Given the description of an element on the screen output the (x, y) to click on. 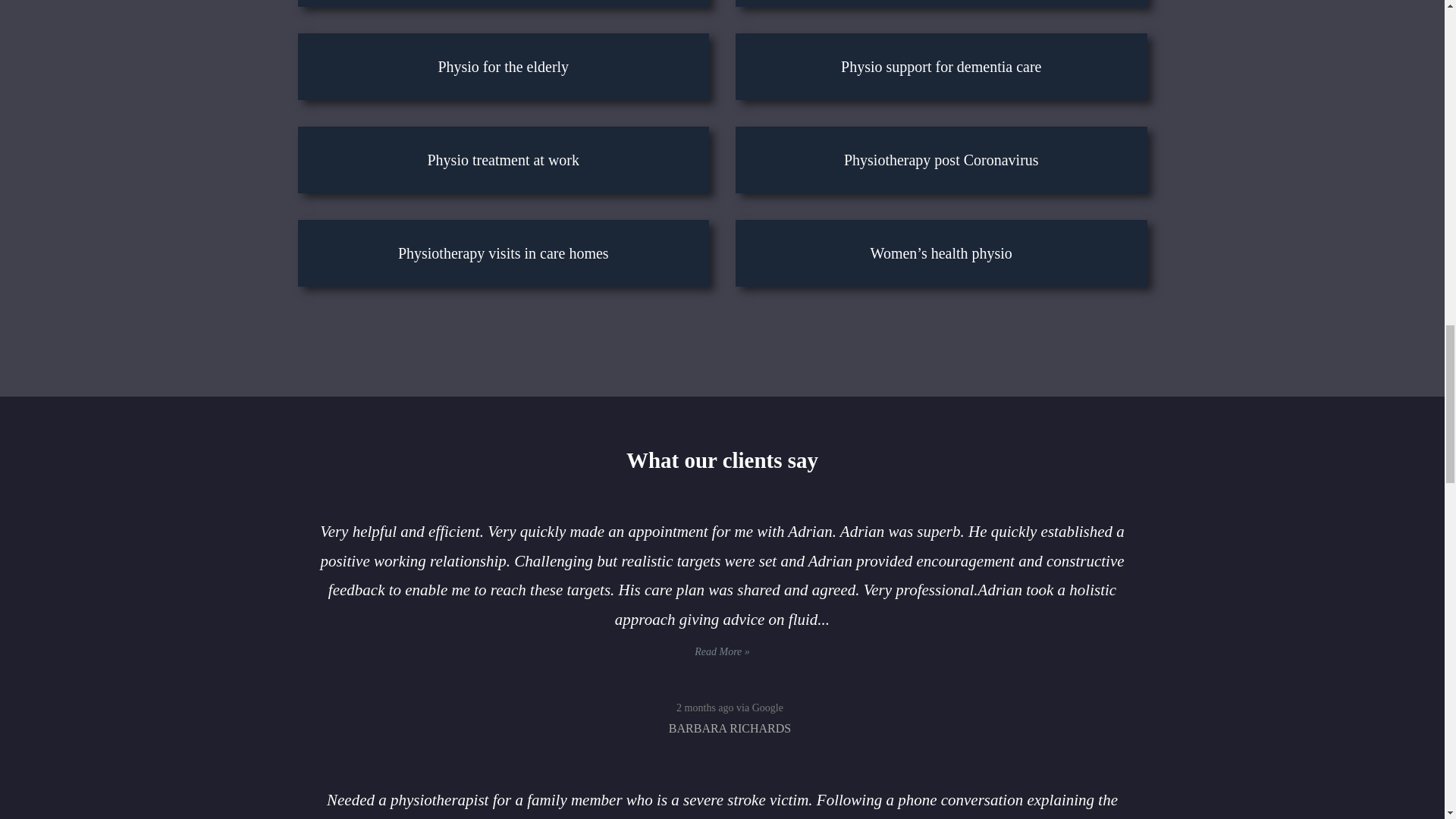
Physio support for dementia care (941, 66)
Physio for the elderly (503, 66)
